Given the description of an element on the screen output the (x, y) to click on. 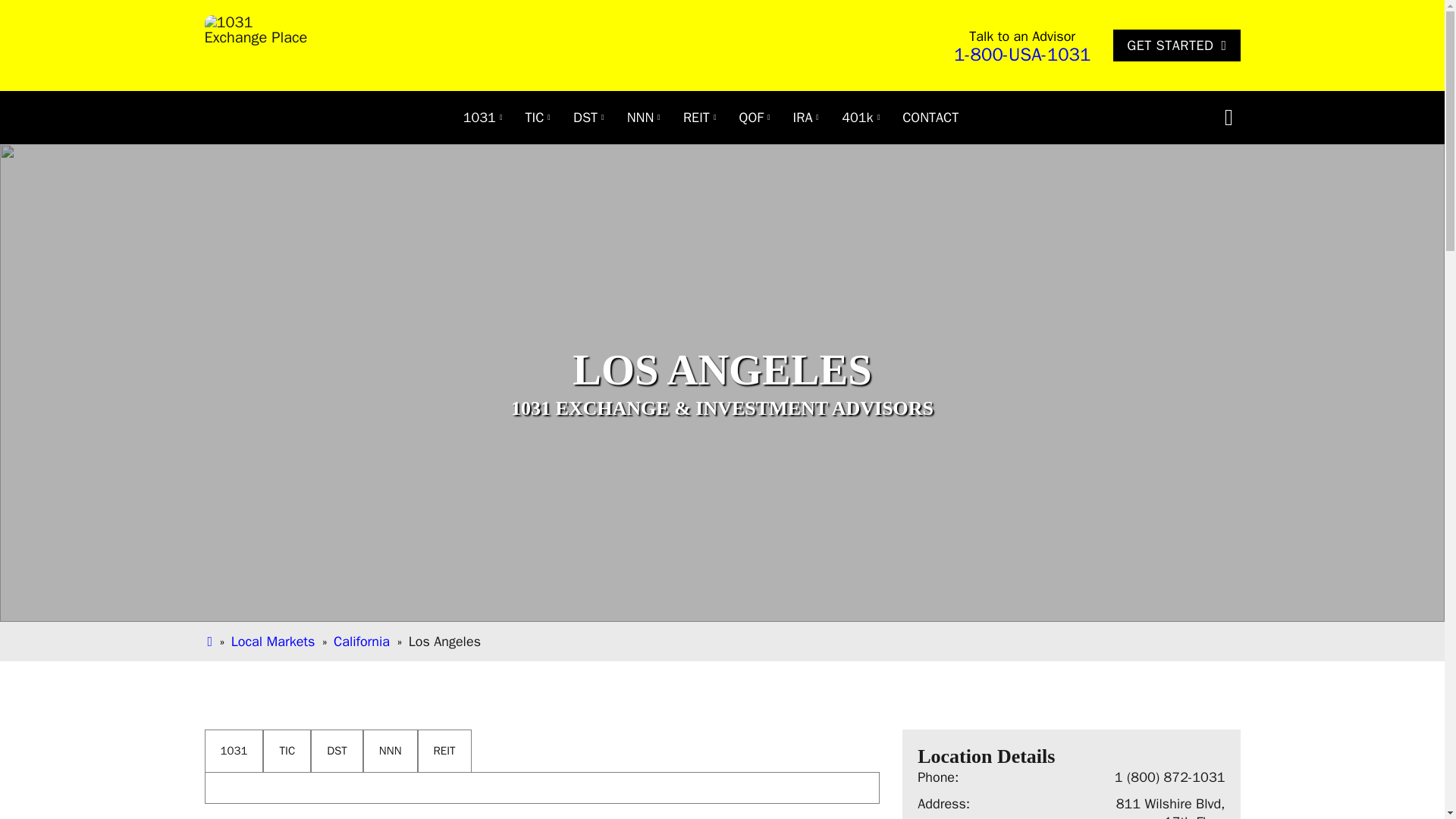
1-800-USA-1031 (1021, 54)
Delaware Statutory Trust (584, 117)
1031 (479, 117)
TIC (534, 117)
Triple Net Lease (640, 117)
GET STARTED (1176, 45)
DST (584, 117)
1031 Exchange Intermediary (479, 117)
Tenants In Common (534, 117)
NNN (640, 117)
